Given the description of an element on the screen output the (x, y) to click on. 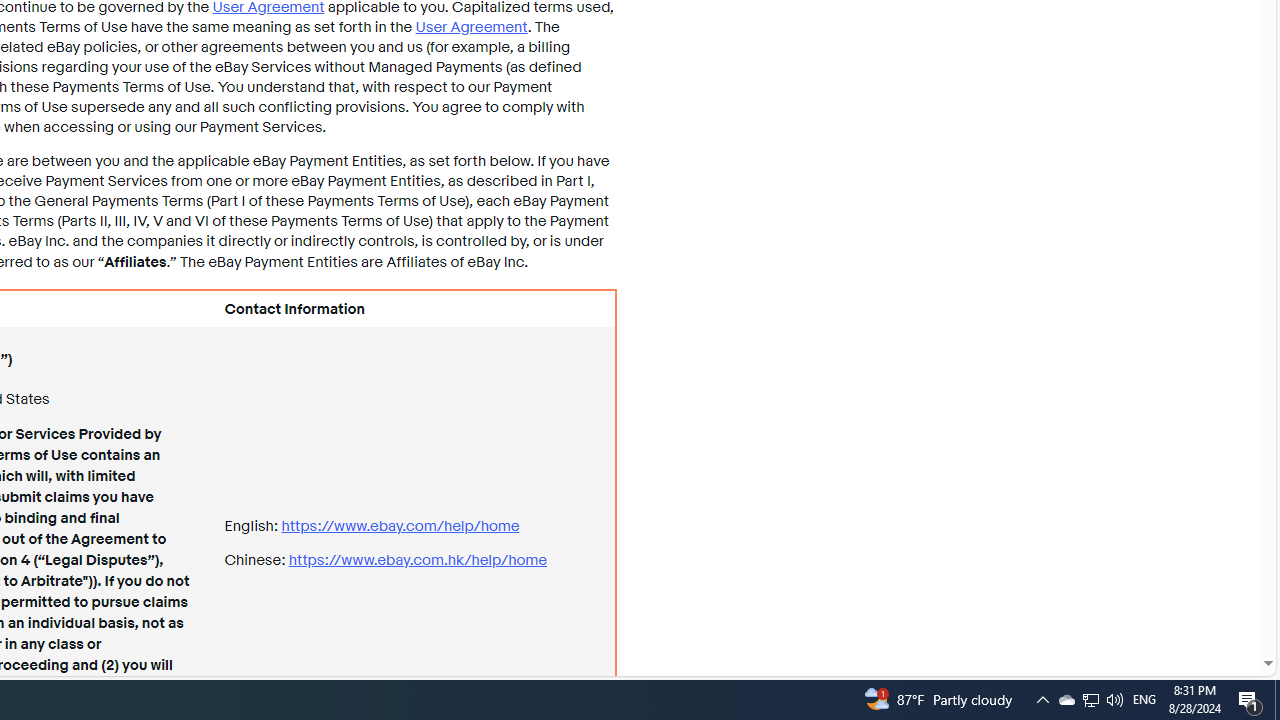
User Agreement (470, 26)
https://www.ebay.com.hk/ help/home (417, 560)
https://www.ebay.com/ help/home (400, 525)
